Given the description of an element on the screen output the (x, y) to click on. 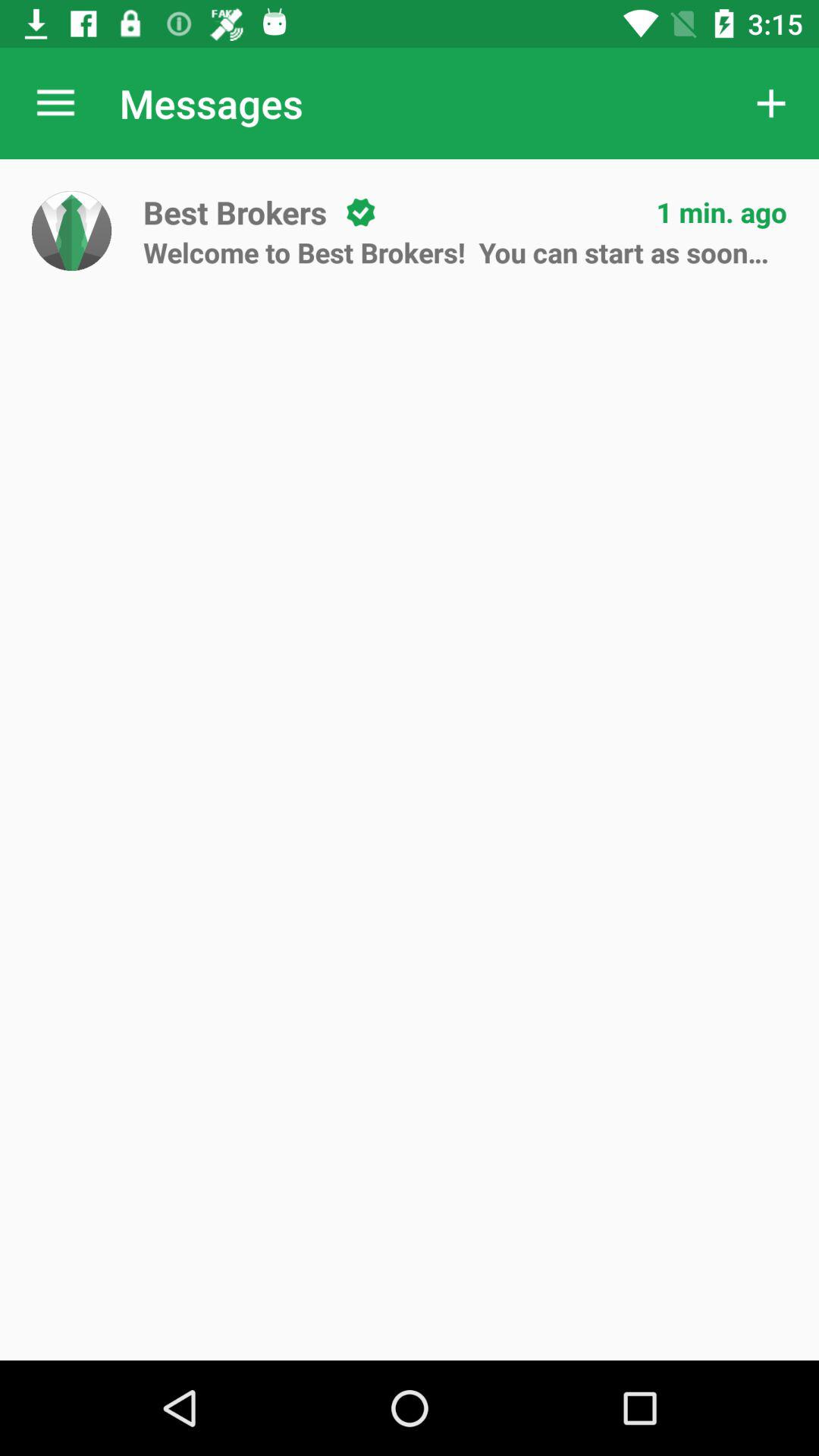
click the item next to messages item (771, 103)
